Given the description of an element on the screen output the (x, y) to click on. 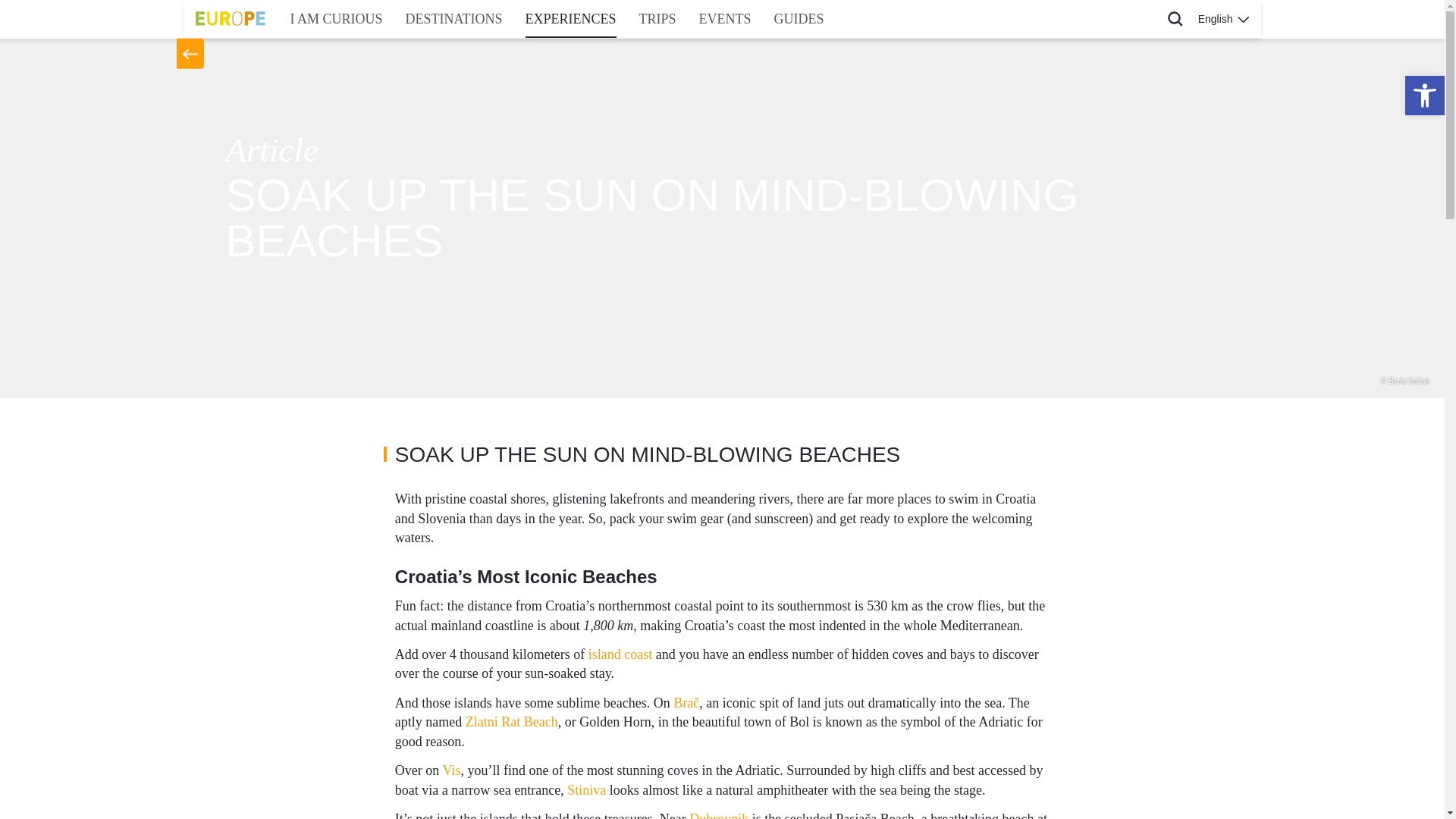
Destinations (453, 18)
Vis (451, 770)
Zlatni Rat Beach (509, 721)
Experiences (570, 18)
GUIDES (798, 18)
island coast (620, 654)
TRIPS (657, 18)
English (1223, 18)
Events (724, 18)
Dubrovnik (718, 815)
